Given the description of an element on the screen output the (x, y) to click on. 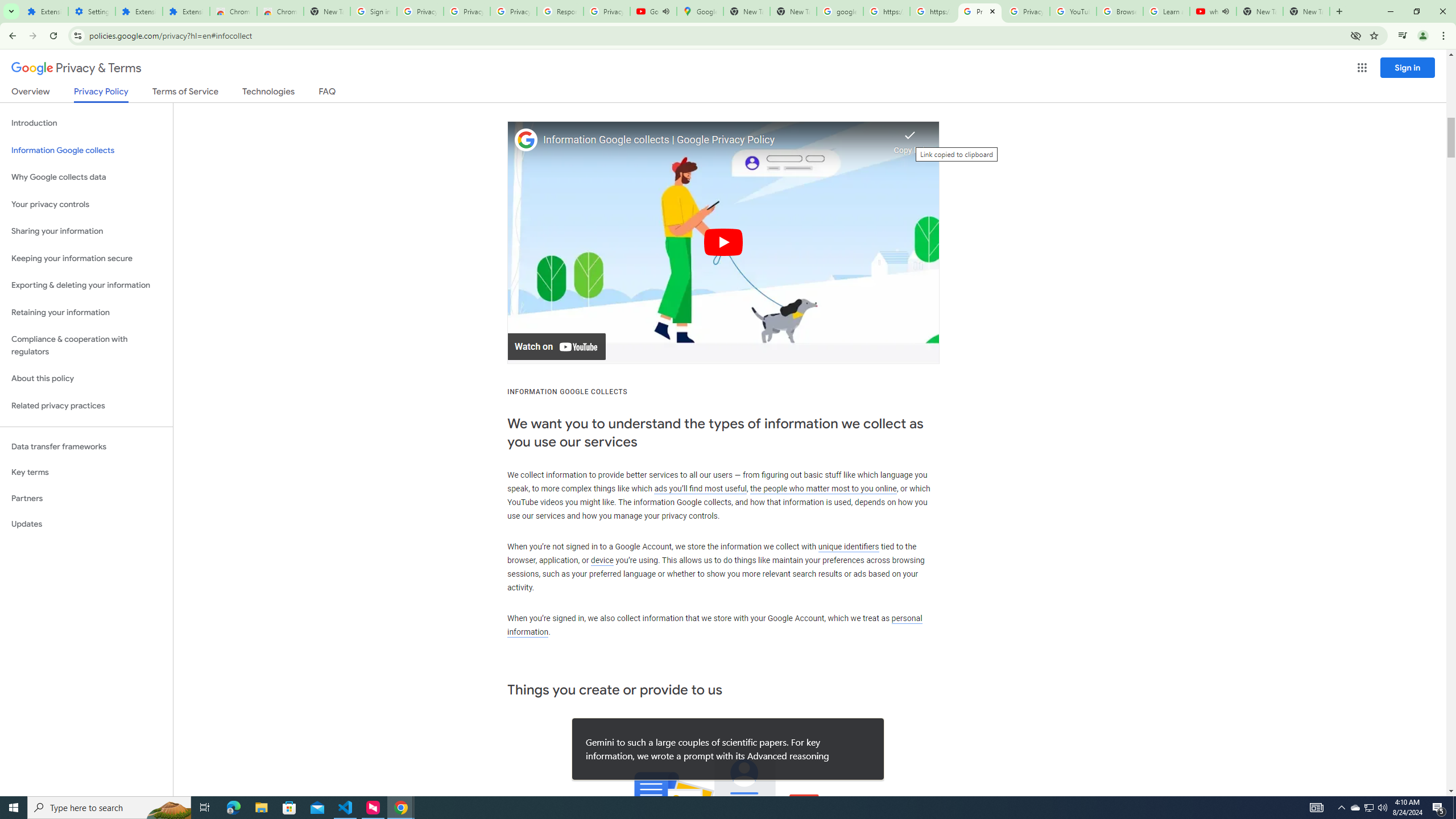
Keeping your information secure (86, 258)
Photo image of Google (526, 139)
the people who matter most to you online (822, 488)
Information Google collects | Google Privacy Policy (715, 140)
New Tab (326, 11)
FAQ (327, 93)
Retaining your information (86, 312)
Extensions (138, 11)
personal information (714, 625)
Privacy & Terms (76, 68)
unique identifiers (848, 546)
